Given the description of an element on the screen output the (x, y) to click on. 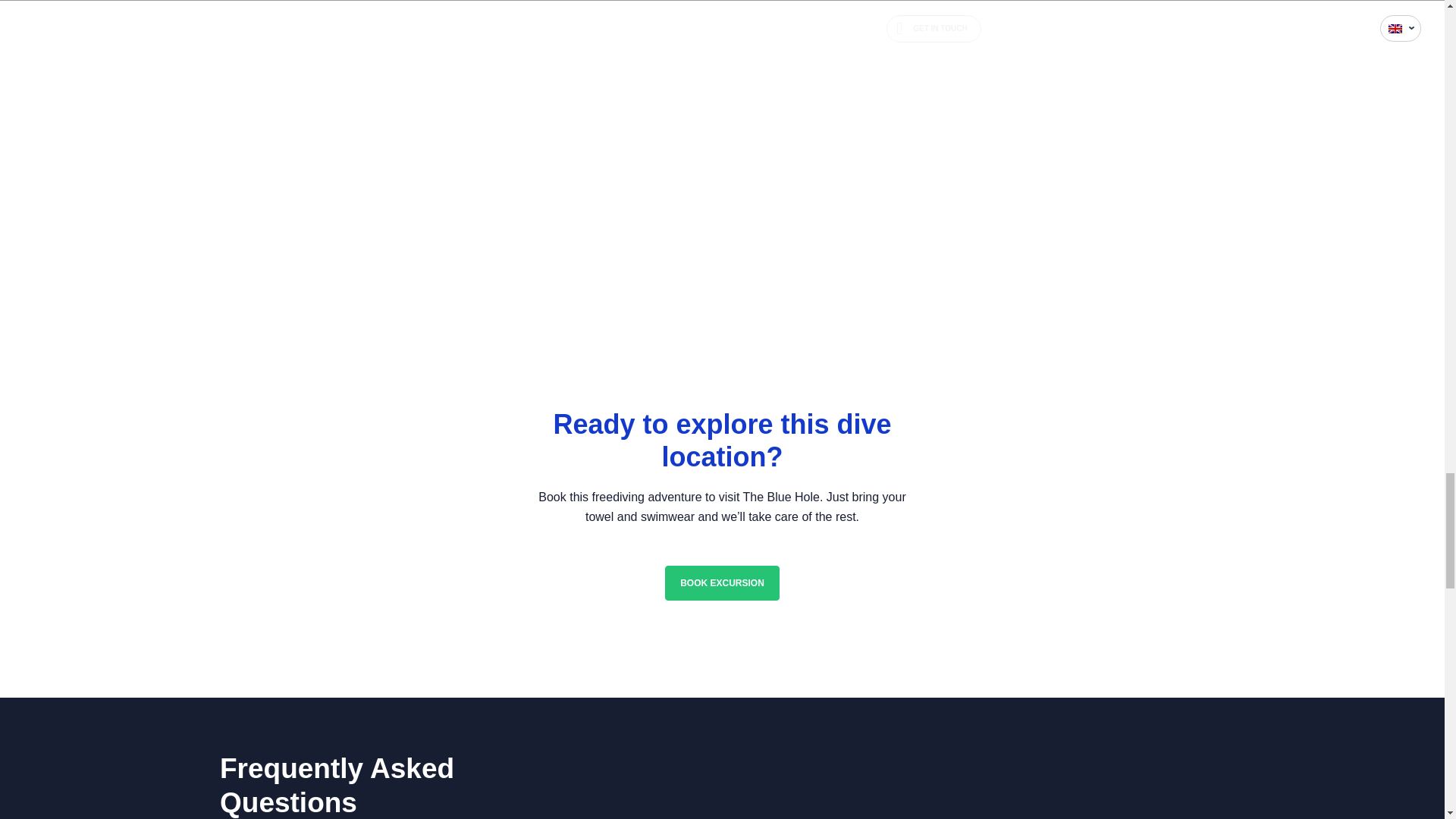
BOOK EXCURSION (721, 582)
Book Excursion (721, 582)
